Given the description of an element on the screen output the (x, y) to click on. 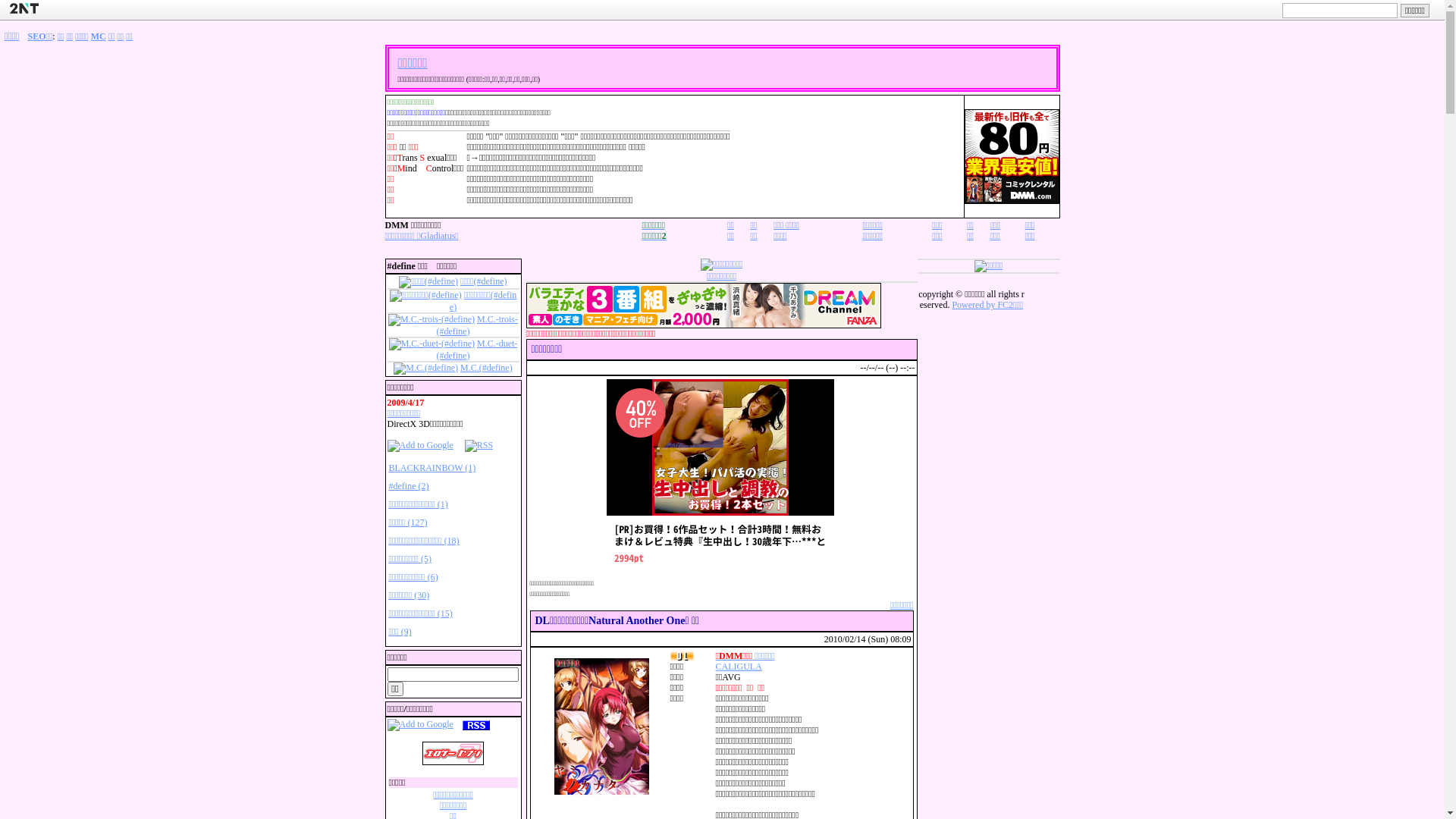
#define (2) Element type: text (408, 485)
BLACKRAINBOW (1) Element type: text (431, 467)
M.C.-duet-(#define) Element type: text (476, 349)
M.C.-trois-(#define) Element type: text (476, 324)
CALIGULA Element type: text (738, 666)
MC Element type: text (98, 36)
M.C.(#define) Element type: text (486, 367)
